Given the description of an element on the screen output the (x, y) to click on. 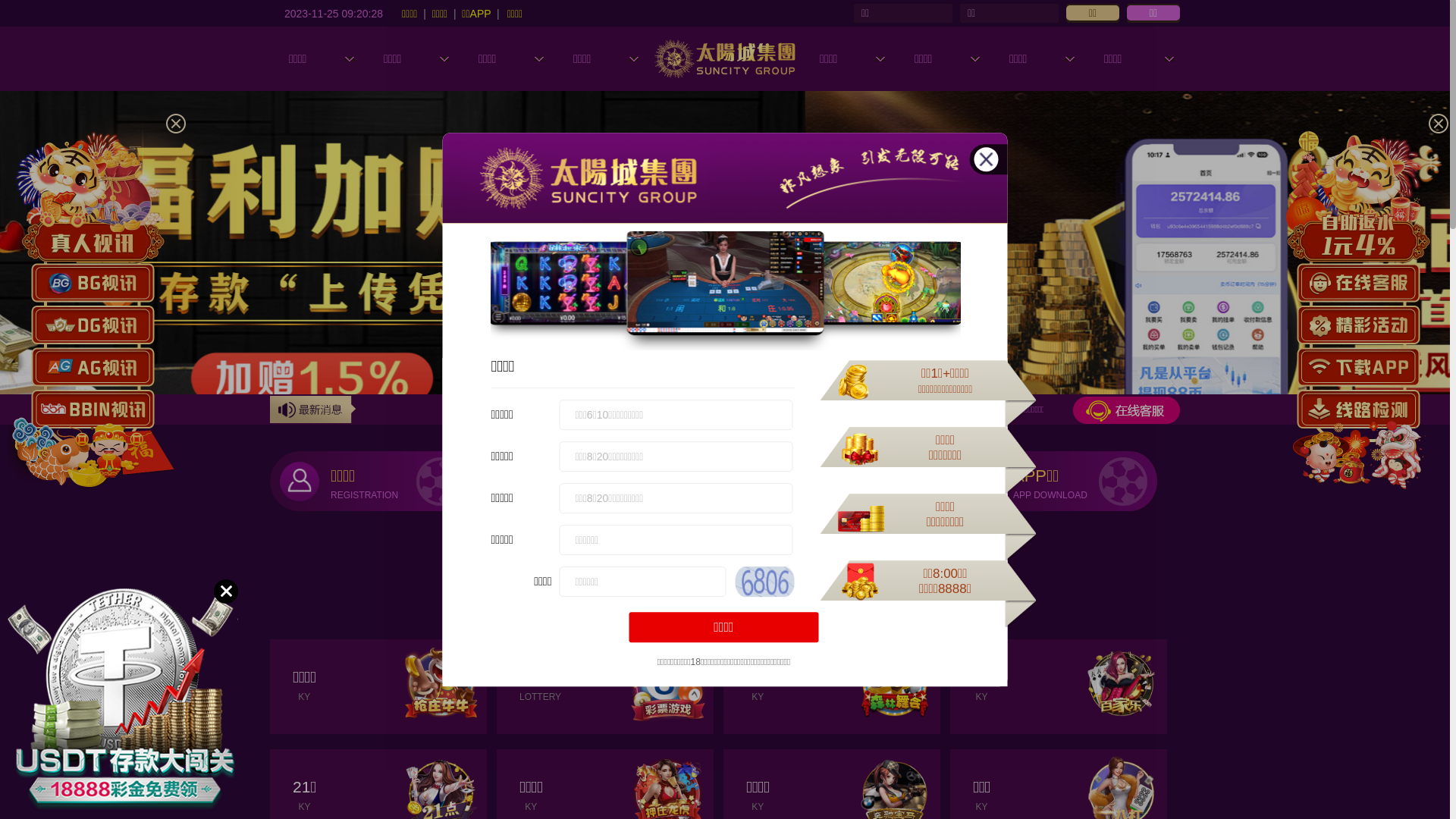
2023-11-25 09:20:26 Element type: text (333, 12)
